Given the description of an element on the screen output the (x, y) to click on. 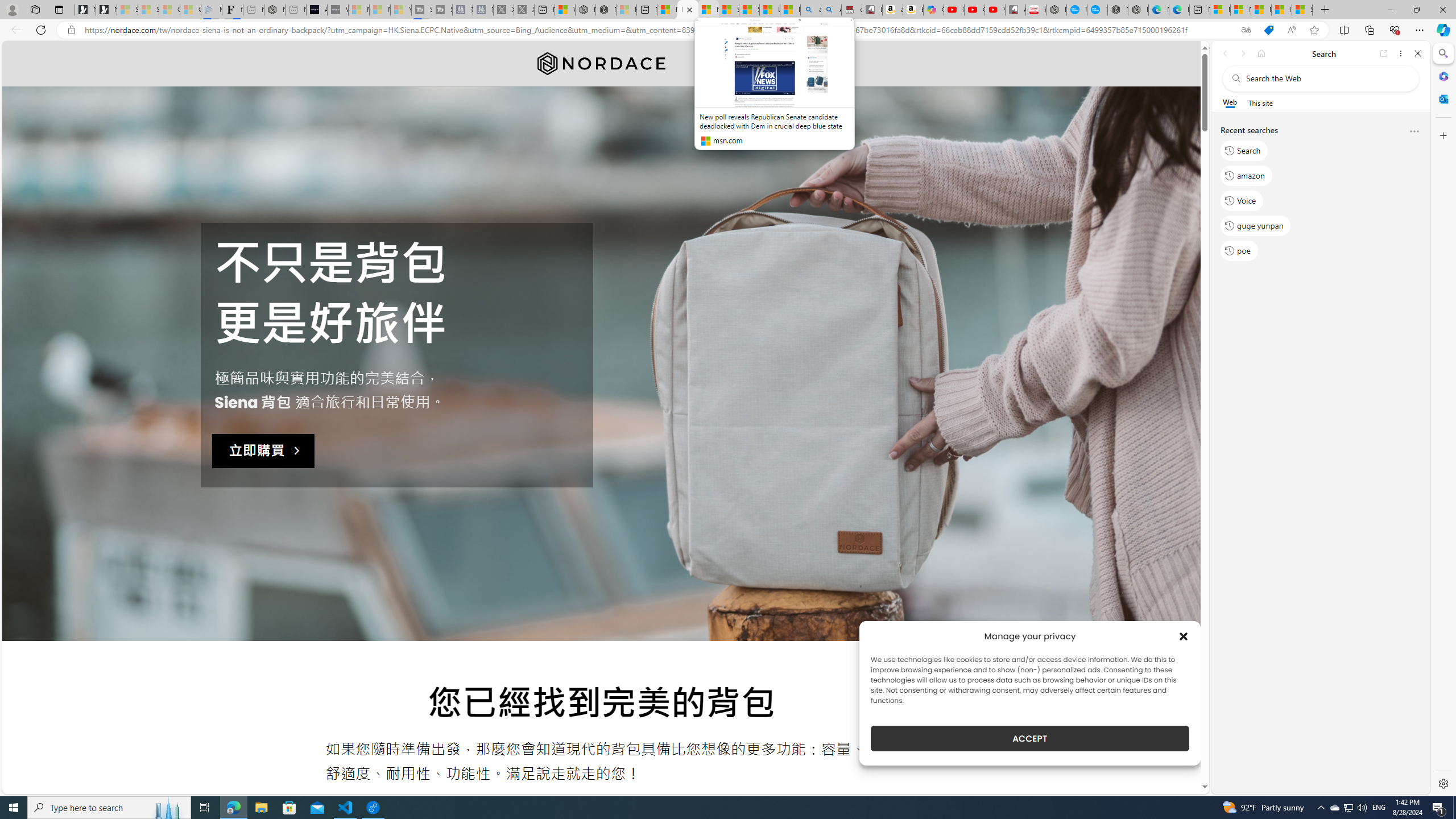
Nordace - Nordace Siena Is Not An Ordinary Backpack (687, 9)
AI Voice Changer for PC and Mac - Voice.ai (316, 9)
guge yunpan (1255, 225)
This site scope (1259, 102)
Open link in new tab (1383, 53)
ACCEPT (1029, 738)
Home (1261, 53)
